Given the description of an element on the screen output the (x, y) to click on. 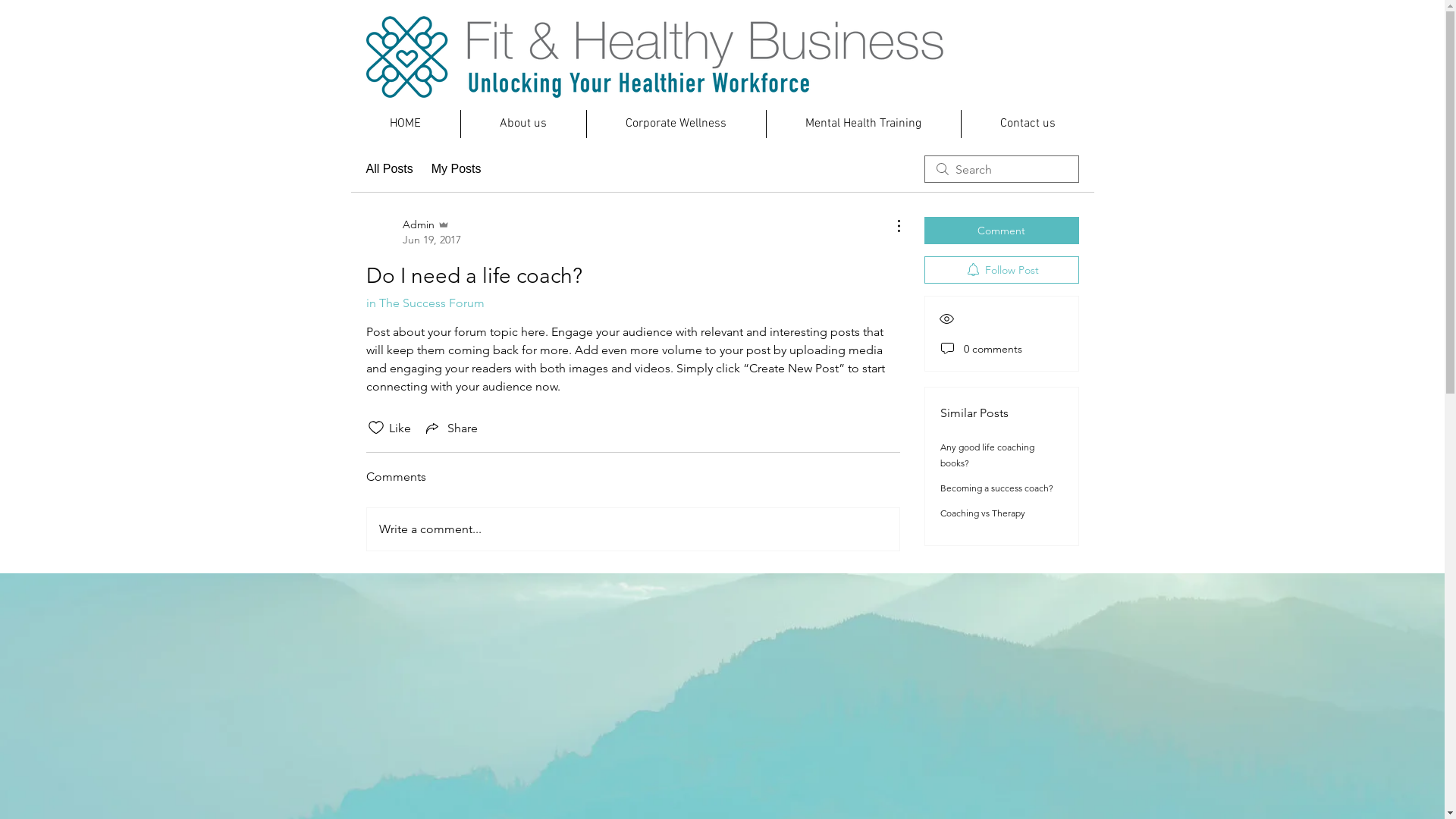
Follow Post Element type: text (1000, 269)
Contact us Element type: text (1027, 123)
Comment Element type: text (1000, 230)
Any good life coaching books? Element type: text (987, 454)
All Posts Element type: text (388, 169)
Mental Health Training Element type: text (862, 123)
Admin
Jun 19, 2017 Element type: text (412, 231)
in The Success Forum Element type: text (424, 302)
Becoming a success coach? Element type: text (996, 487)
Write a comment... Element type: text (633, 529)
My Posts Element type: text (456, 169)
About us Element type: text (523, 123)
Coaching vs Therapy Element type: text (982, 512)
Share Element type: text (450, 427)
HOME Element type: text (404, 123)
Corporate Wellness Element type: text (675, 123)
